Given the description of an element on the screen output the (x, y) to click on. 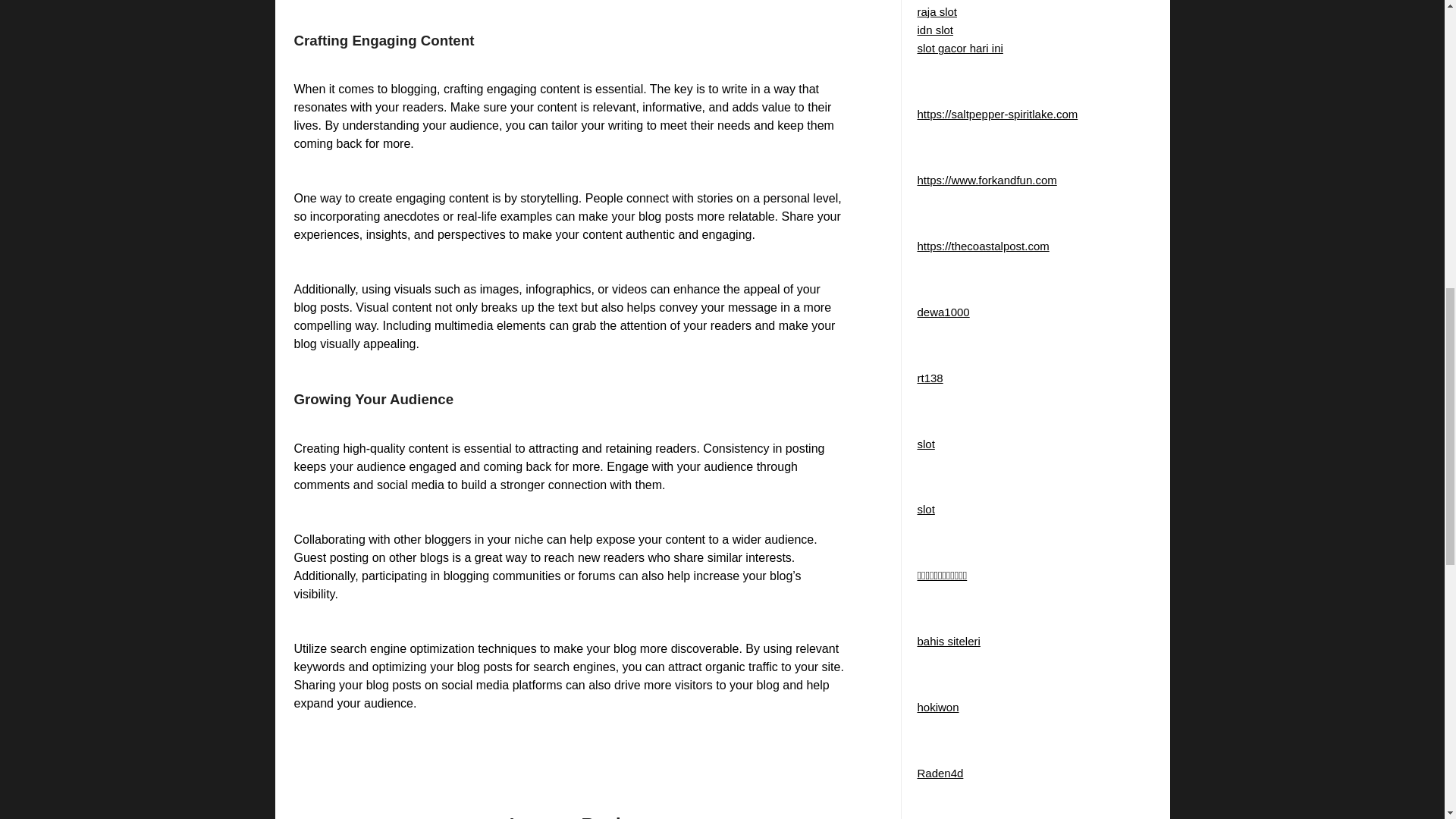
raja slot (936, 10)
bahis siteleri (948, 640)
rt138 (929, 377)
hokiwon (937, 707)
slot (925, 442)
slot (925, 508)
slot gacor hari ini (960, 47)
idn slot (935, 29)
dewa1000 (943, 311)
